Given the description of an element on the screen output the (x, y) to click on. 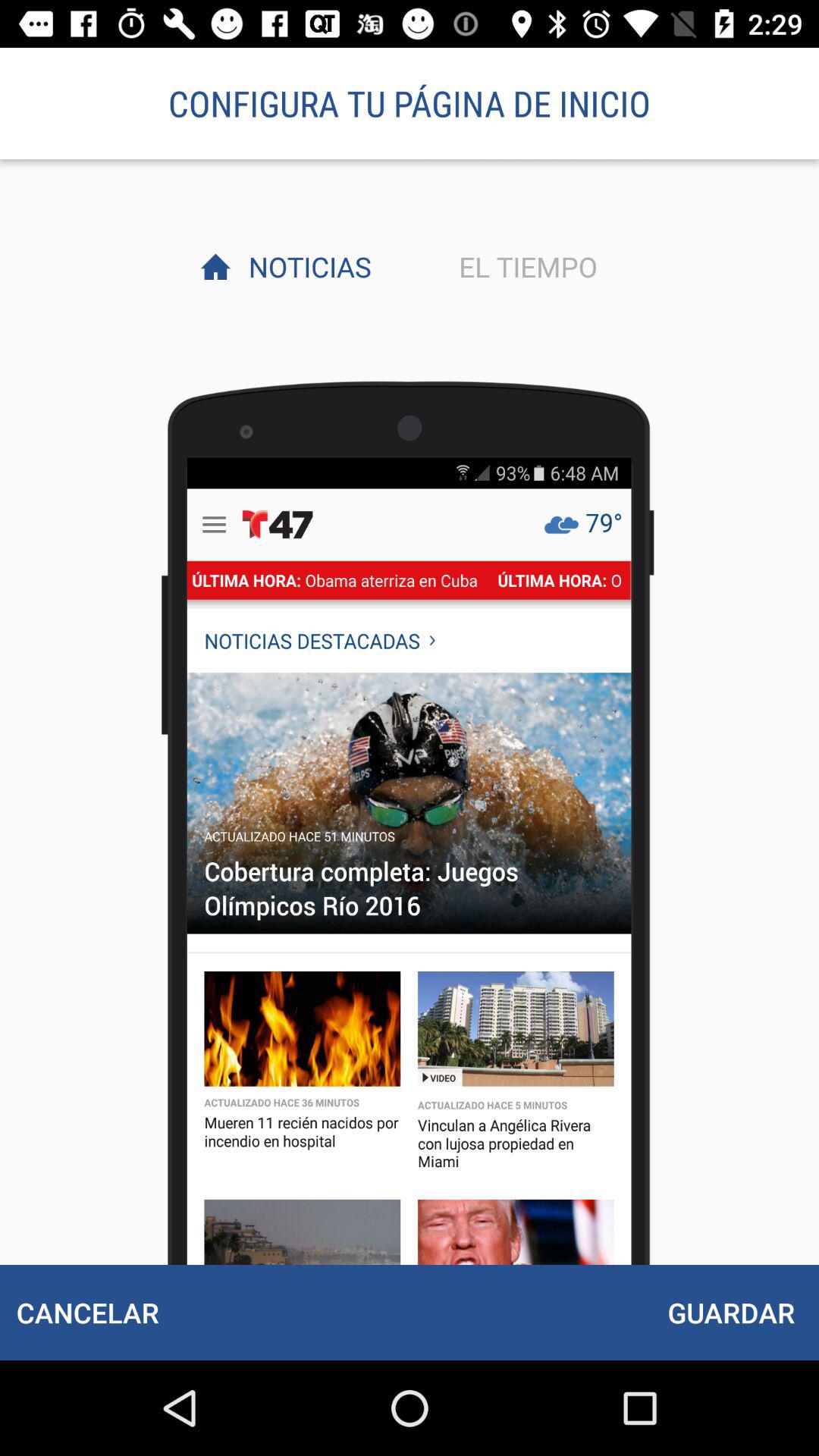
open item next to guardar (87, 1312)
